Given the description of an element on the screen output the (x, y) to click on. 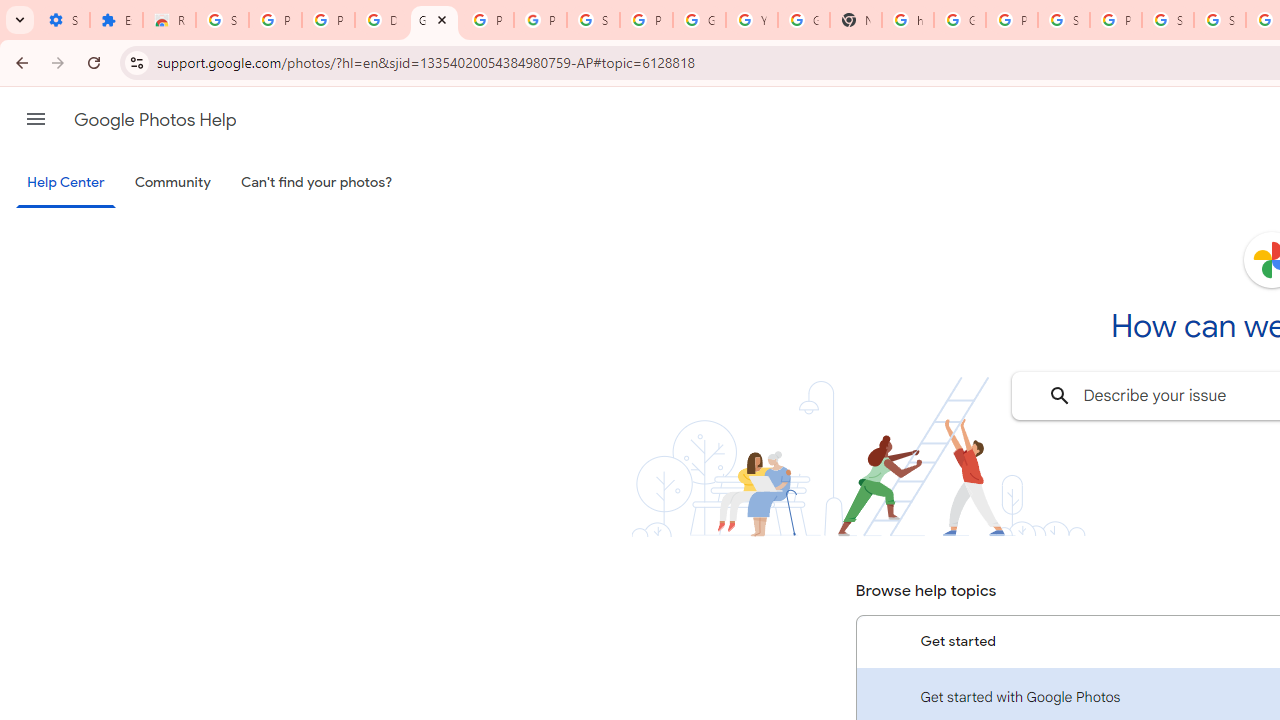
Can't find your photos? (317, 183)
Help Center (65, 183)
Main menu (35, 119)
Google Photos Help (155, 119)
https://scholar.google.com/ (907, 20)
Settings - On startup (63, 20)
Google Photos Help (434, 20)
